Given the description of an element on the screen output the (x, y) to click on. 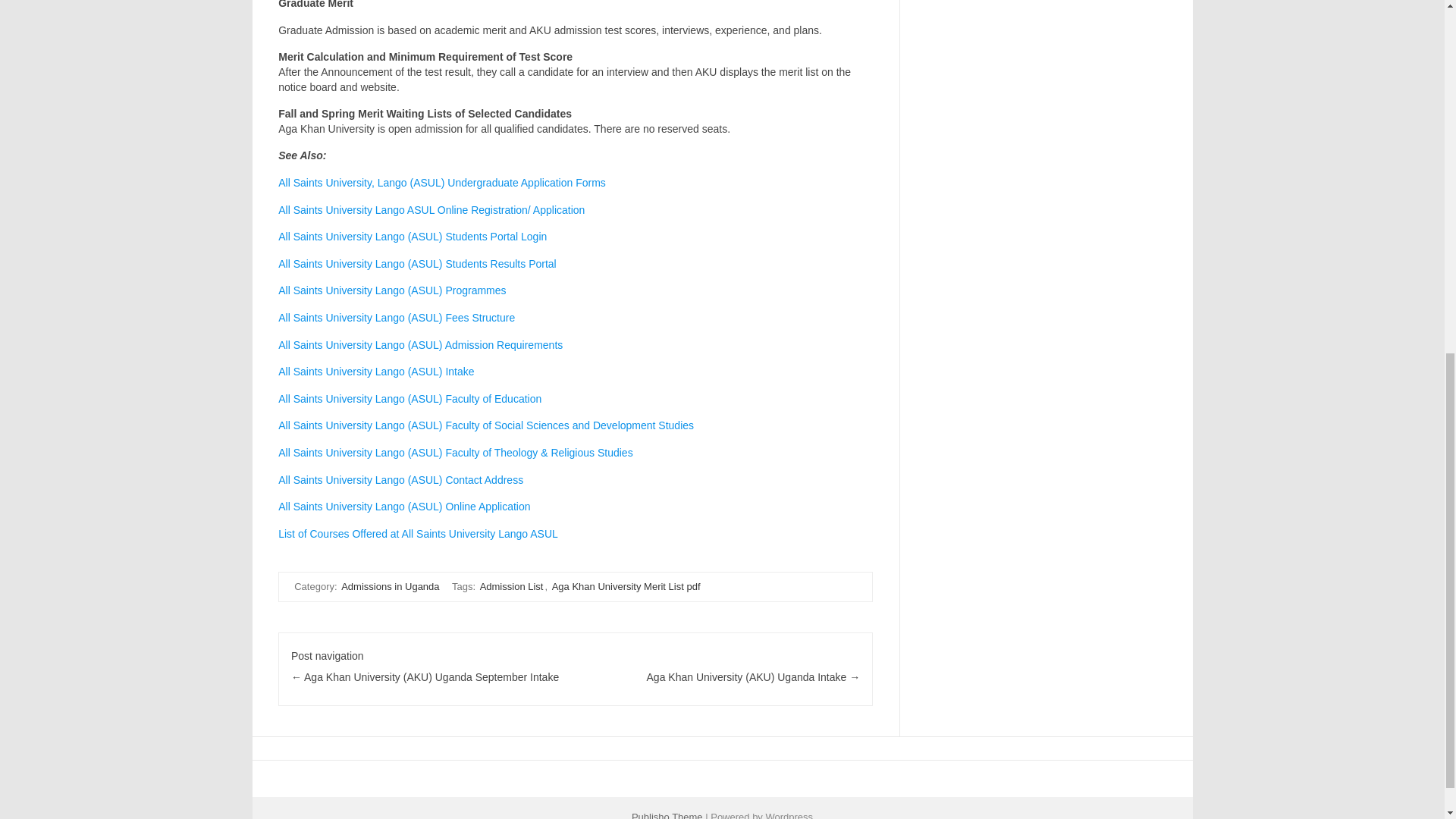
Admissions in Uganda (390, 586)
Aga Khan University Merit List pdf (625, 586)
List of Courses Offered at All Saints University Lango ASUL (417, 533)
Admission List (511, 586)
